Given the description of an element on the screen output the (x, y) to click on. 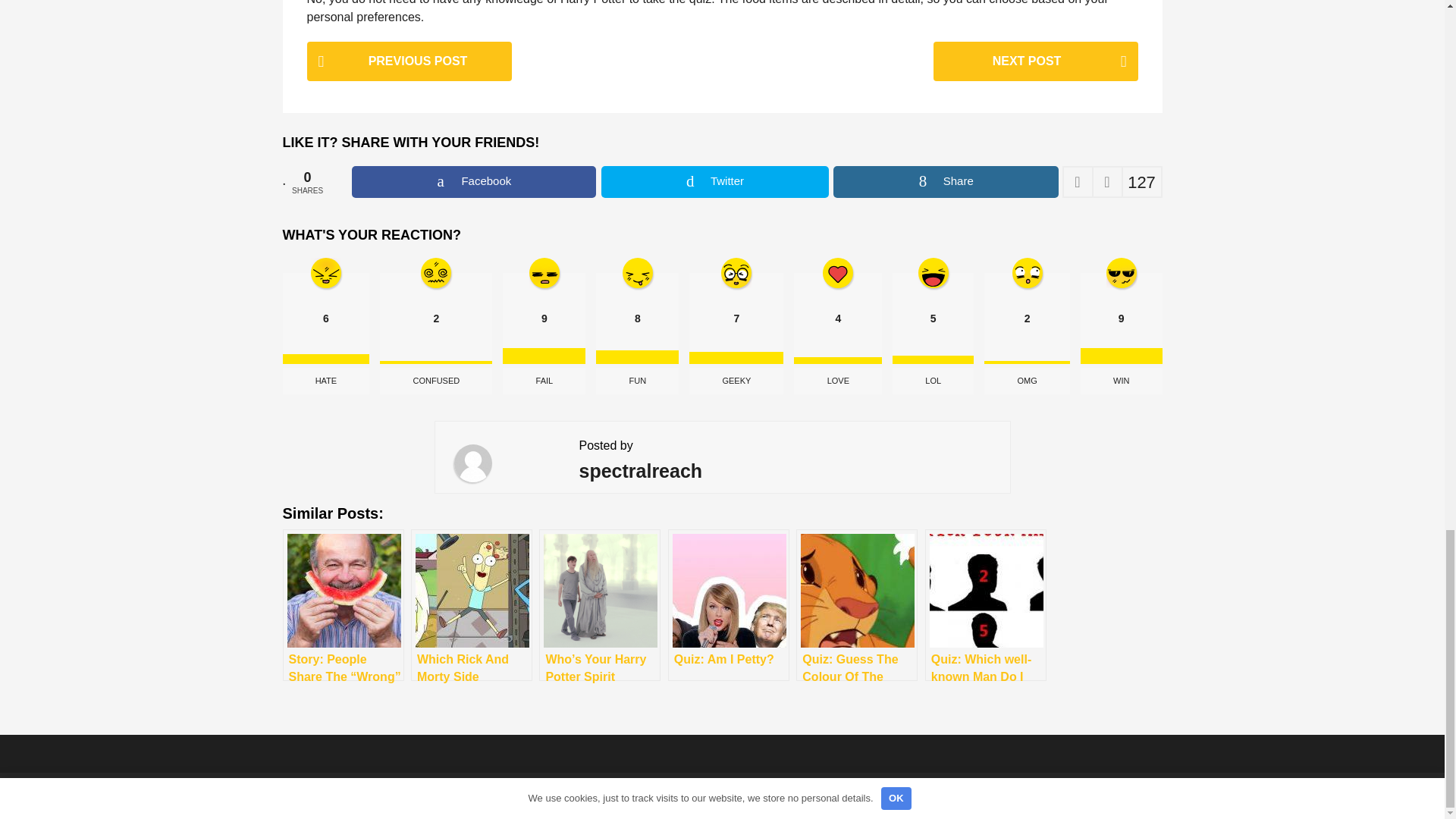
Twitter (715, 182)
Which Rick And Morty Side Character Are You? (471, 604)
NEXT POST (1035, 61)
Share (945, 182)
PREVIOUS POST (408, 61)
Facebook (473, 182)
Quiz: Am I Petty? (728, 604)
